Given the description of an element on the screen output the (x, y) to click on. 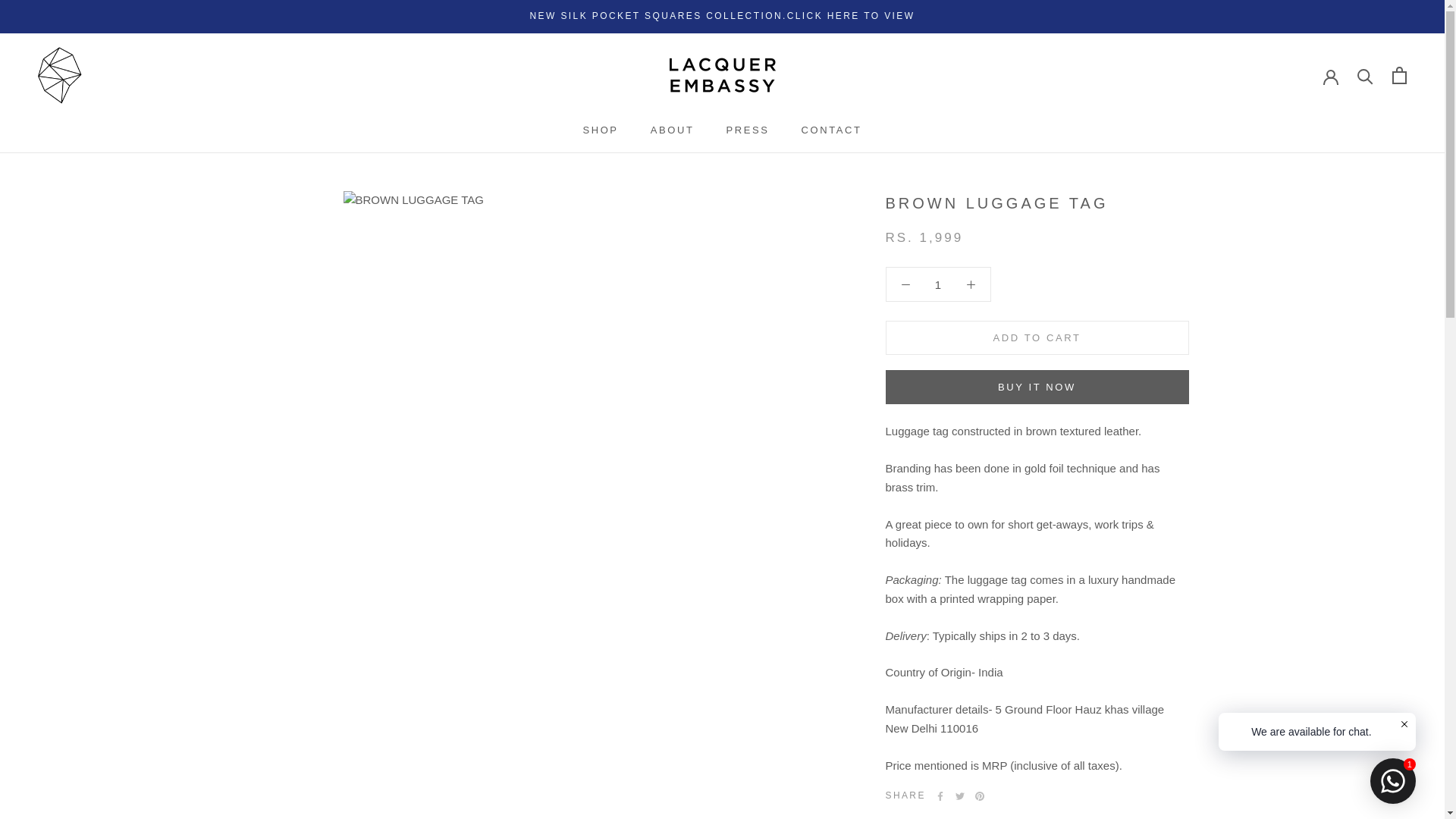
1 (938, 284)
NEW SILK POCKET SQUARES COLLECTION.CLICK HERE TO VIEW (722, 15)
SHOP (599, 129)
